Given the description of an element on the screen output the (x, y) to click on. 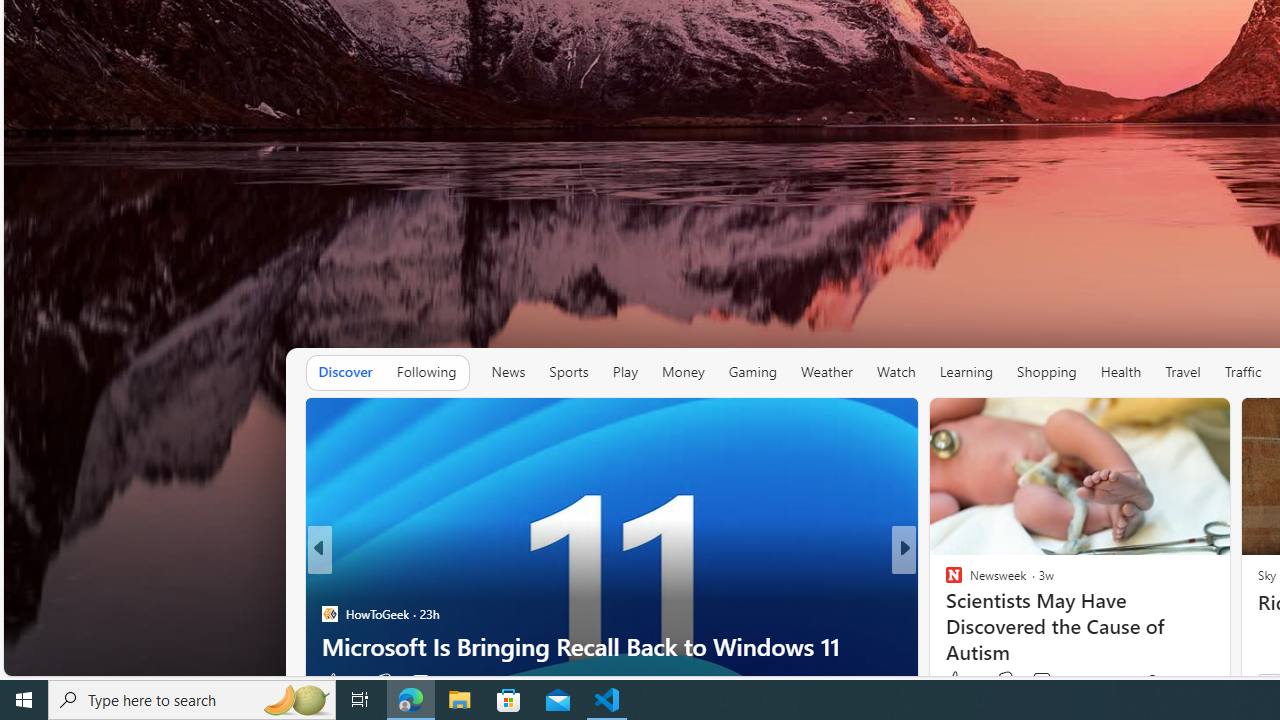
Earth (944, 581)
The Associated Press - Business News (944, 581)
HowToGeek (329, 614)
2k Like (961, 680)
411 Like (959, 681)
View comments 11 Comment (1044, 681)
